Given the description of an element on the screen output the (x, y) to click on. 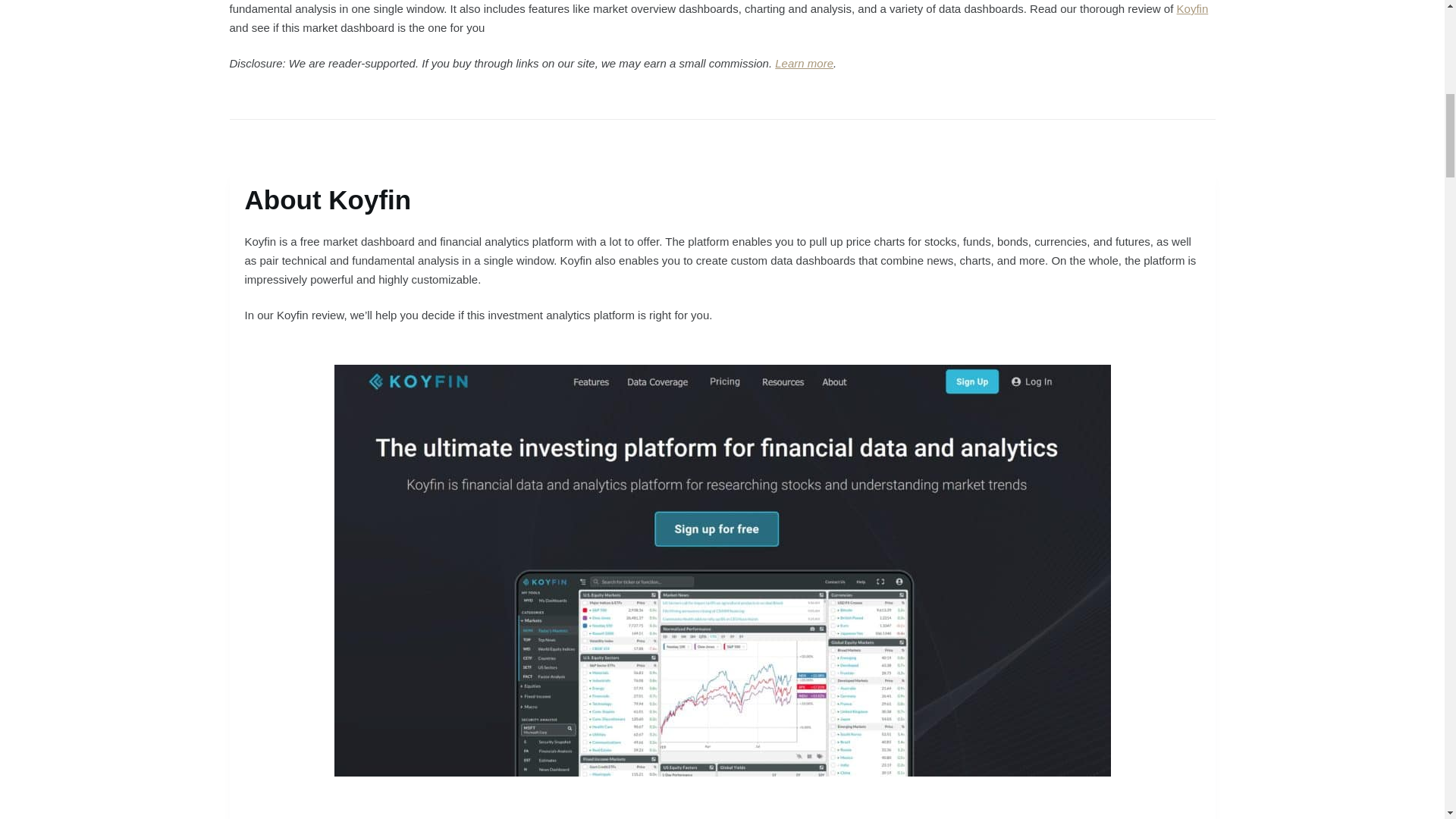
Koyfin (1192, 8)
Learn more (803, 62)
